Given the description of an element on the screen output the (x, y) to click on. 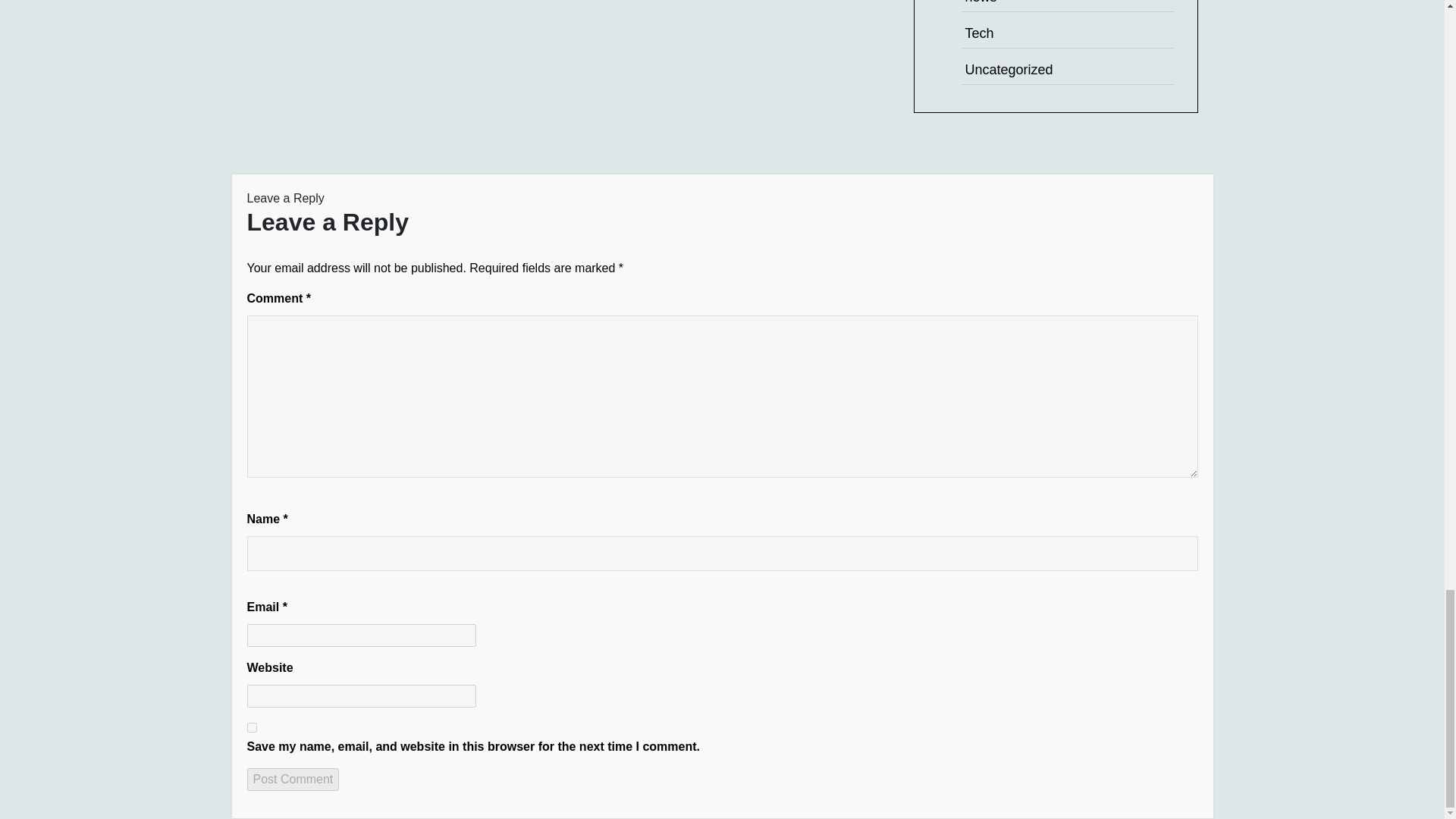
Post Comment (293, 779)
yes (252, 727)
